Given the description of an element on the screen output the (x, y) to click on. 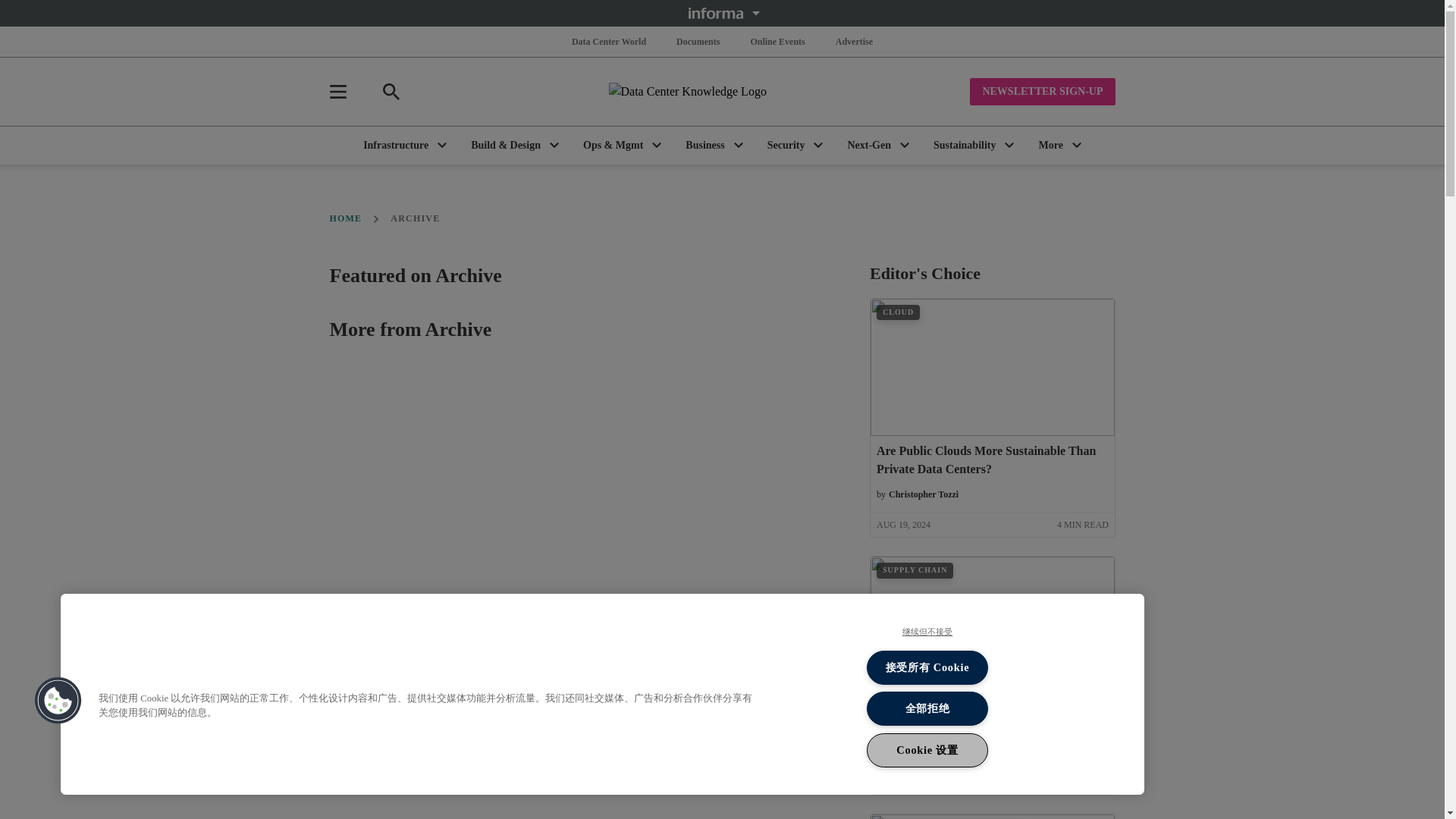
Data Center World (609, 41)
Advertise (854, 41)
Data Center Knowledge Logo (721, 91)
Documents (697, 41)
Online Events (777, 41)
NEWSLETTER SIGN-UP (1042, 90)
Cookies Button (57, 700)
